Given the description of an element on the screen output the (x, y) to click on. 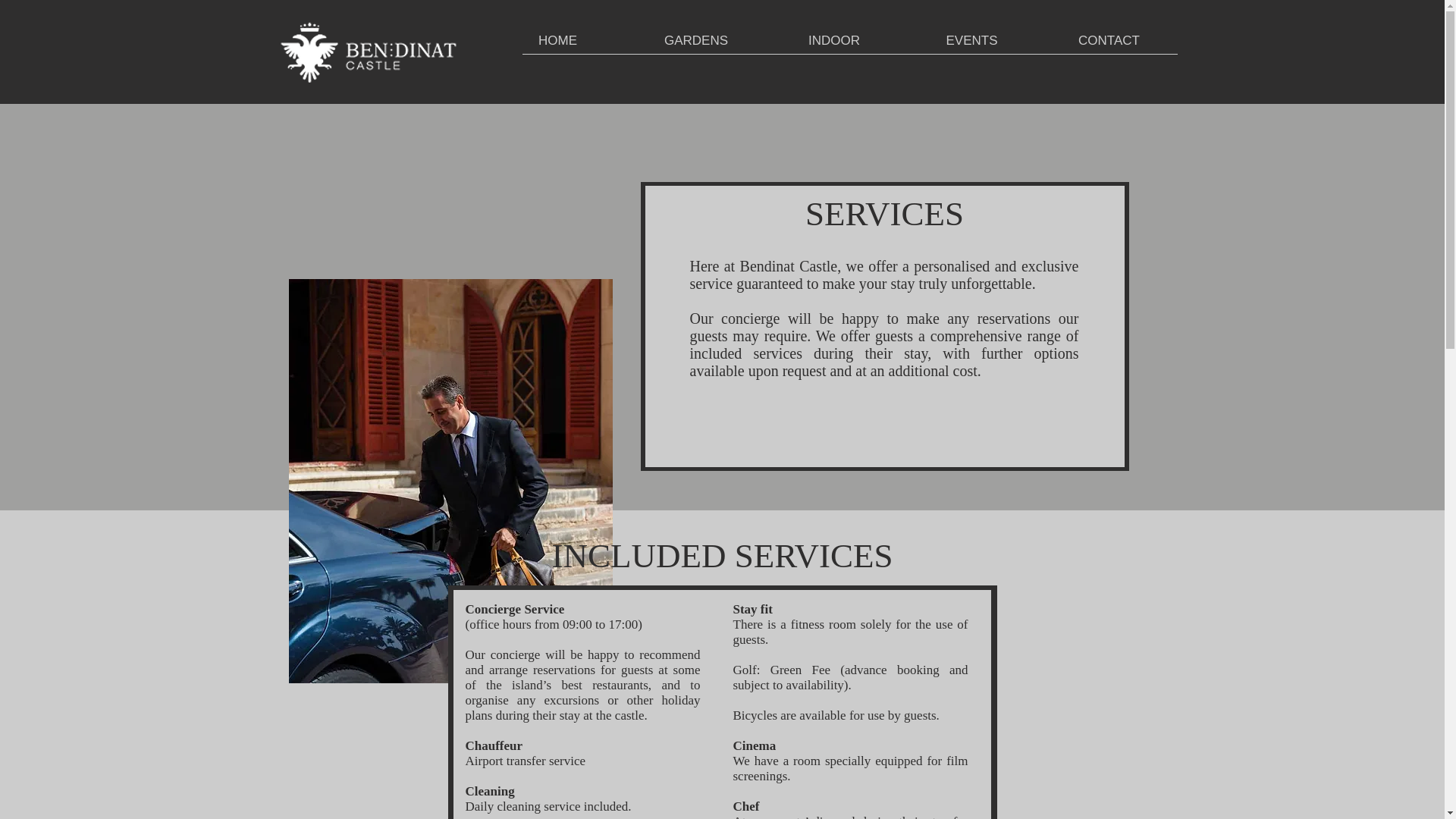
CONTACT (1109, 40)
INDOOR (833, 40)
EVENTS (970, 40)
HOME (556, 40)
GARDENS (695, 40)
